Given the description of an element on the screen output the (x, y) to click on. 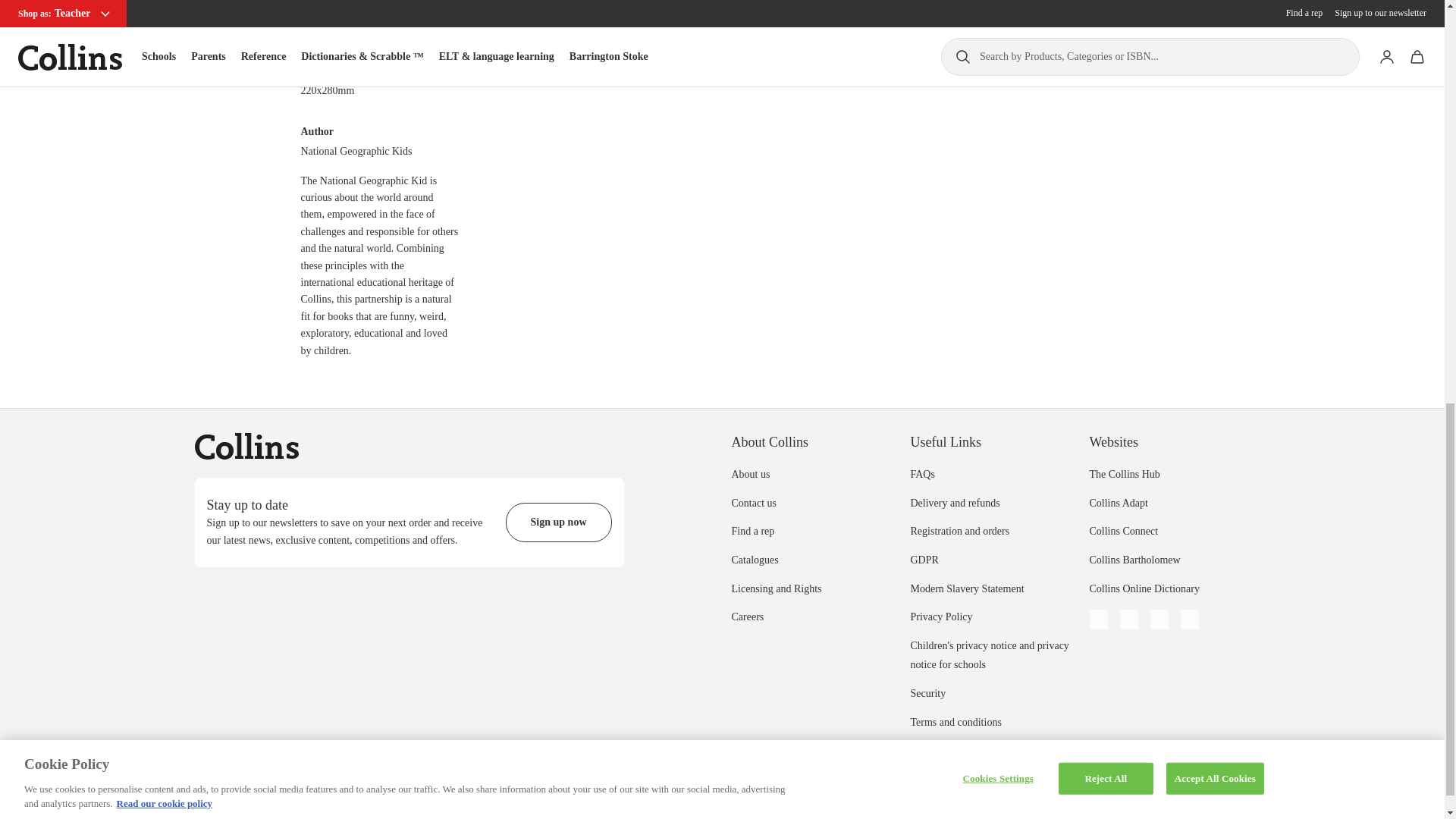
Sign up now (558, 522)
Find a rep (752, 531)
Contact us (753, 502)
Licensing and Rights (775, 588)
Catalogues (753, 559)
About us (750, 473)
